Given the description of an element on the screen output the (x, y) to click on. 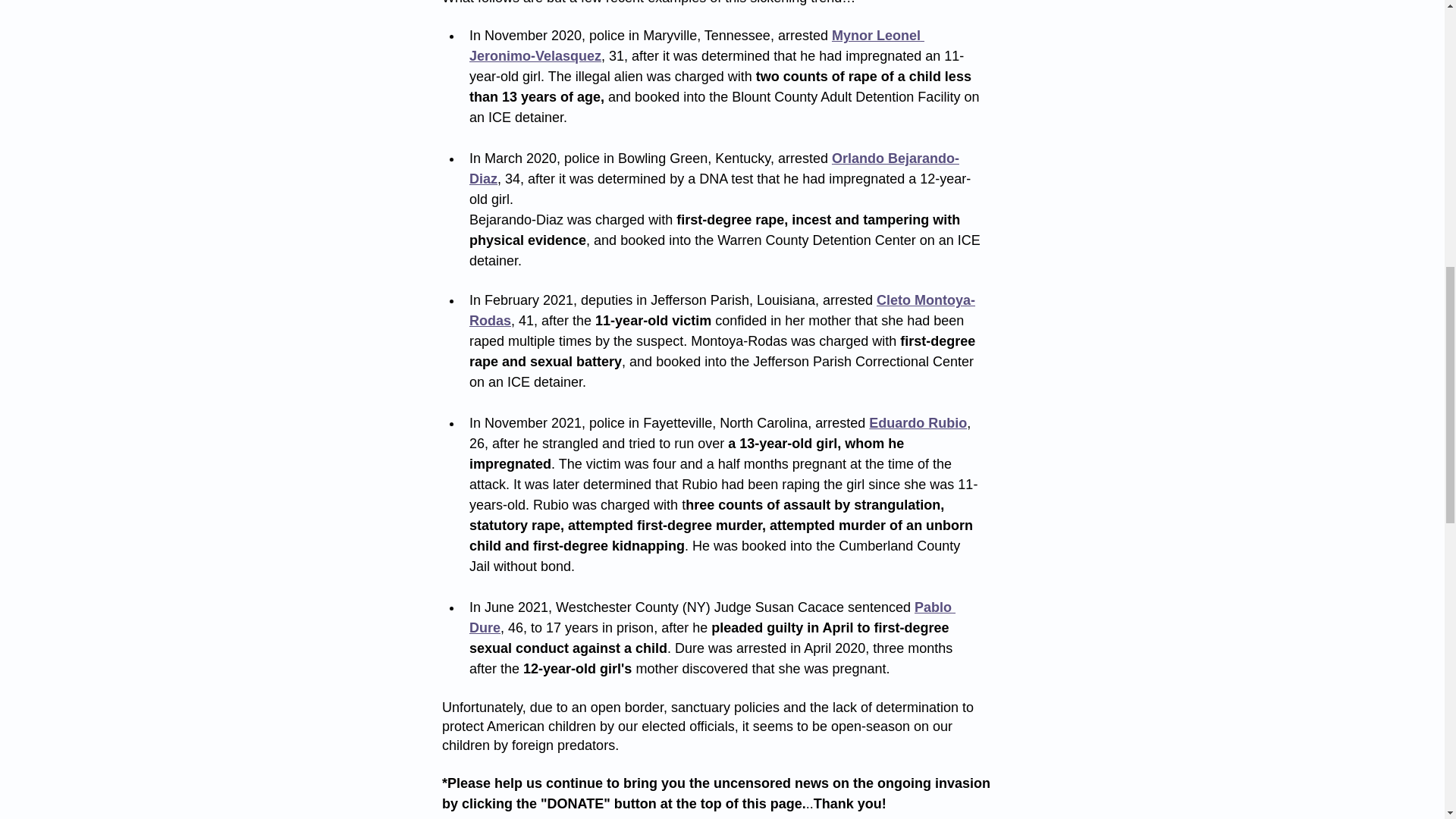
Cleto Montoya-Rodas (721, 310)
Orlando Bejarando-Diaz (713, 168)
Eduardo Rubio (917, 422)
Mynor Leonel Jeronimo-Velasquez (695, 45)
Pablo Dure (711, 617)
